Given the description of an element on the screen output the (x, y) to click on. 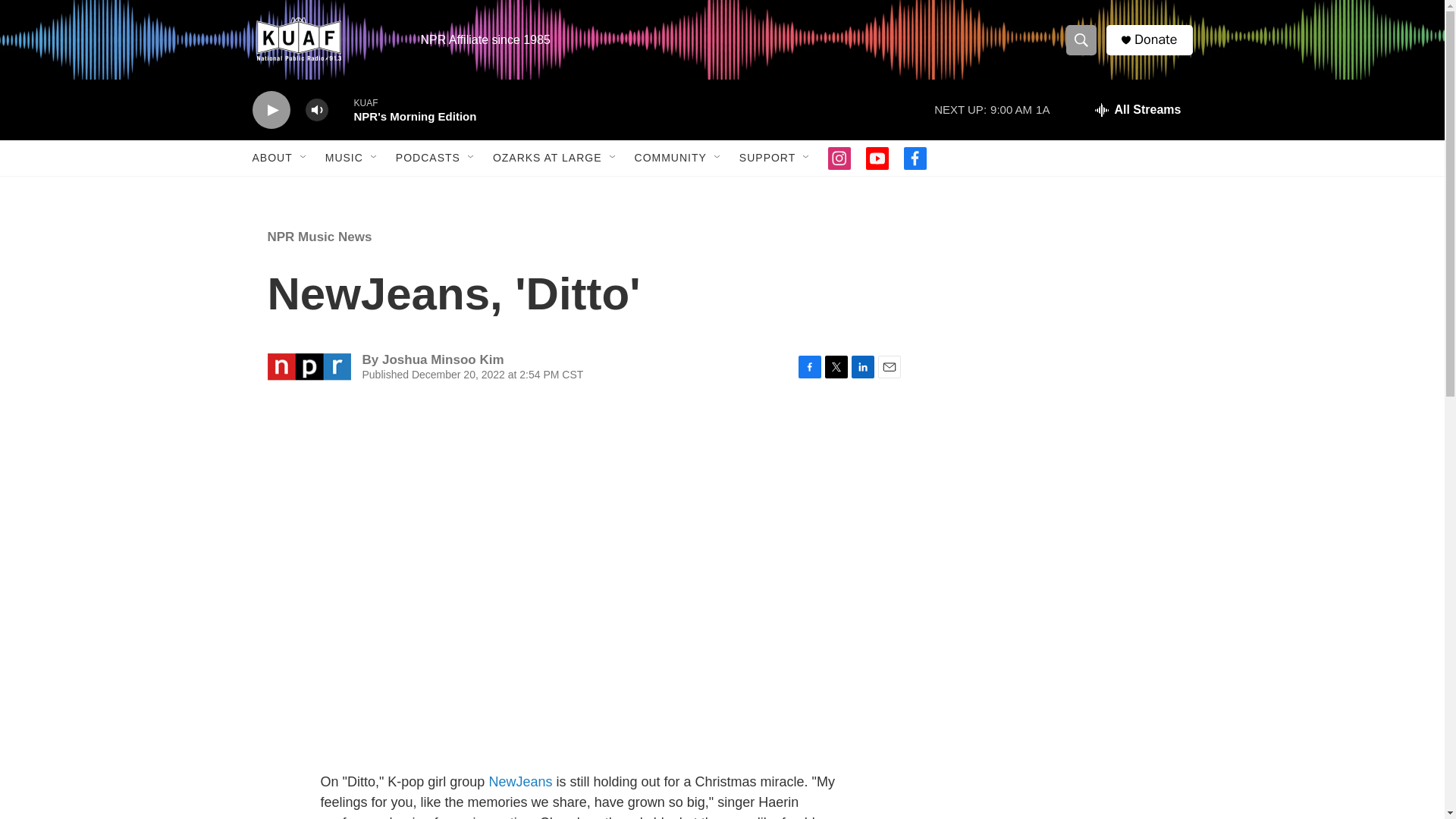
3rd party ad content (1062, 316)
